Given the description of an element on the screen output the (x, y) to click on. 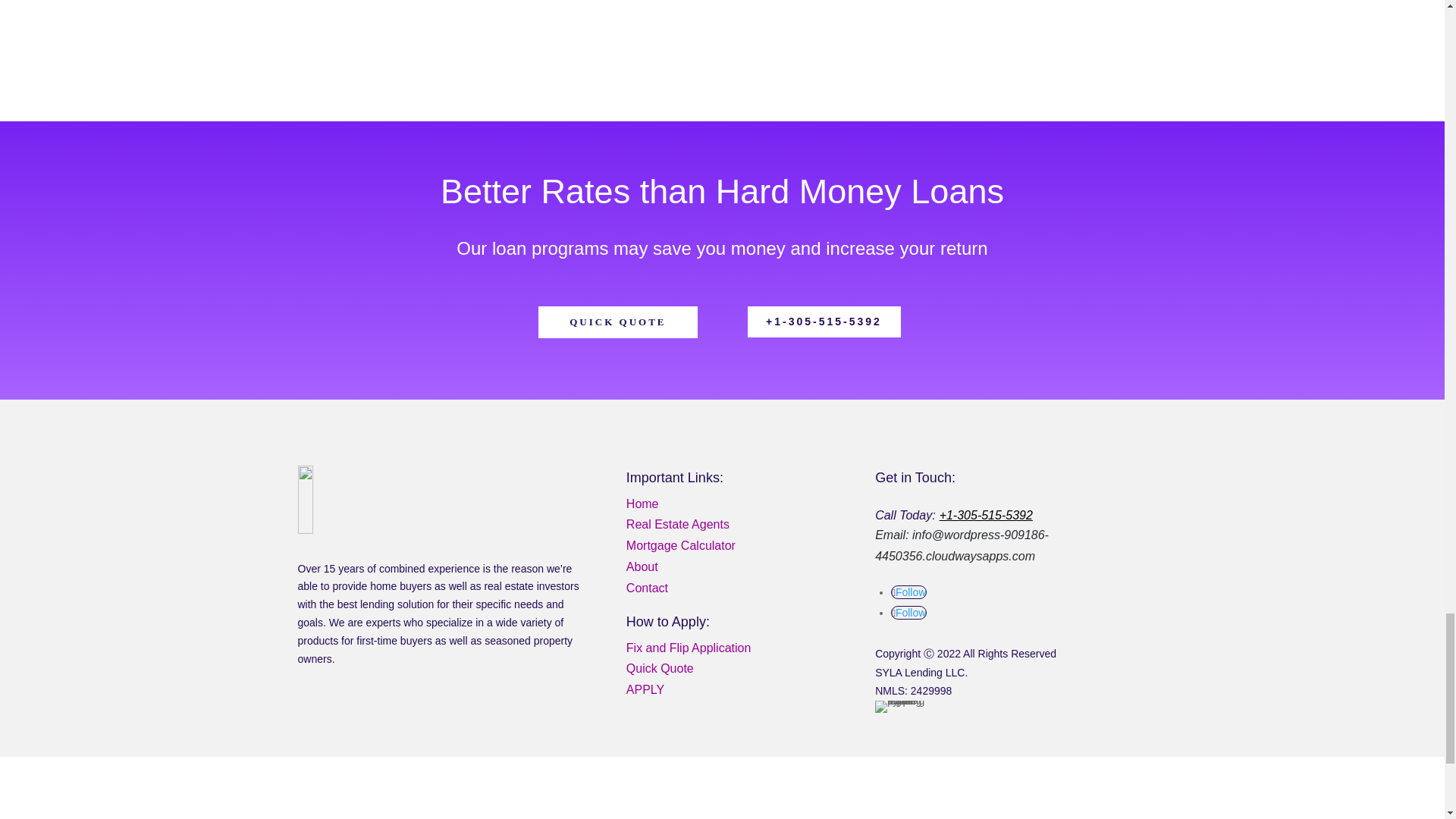
Follow on Facebook (908, 591)
syla-lending-logo-tr-rec (387, 499)
Follow on X (908, 612)
equal housing lender logo purple (901, 706)
